Given the description of an element on the screen output the (x, y) to click on. 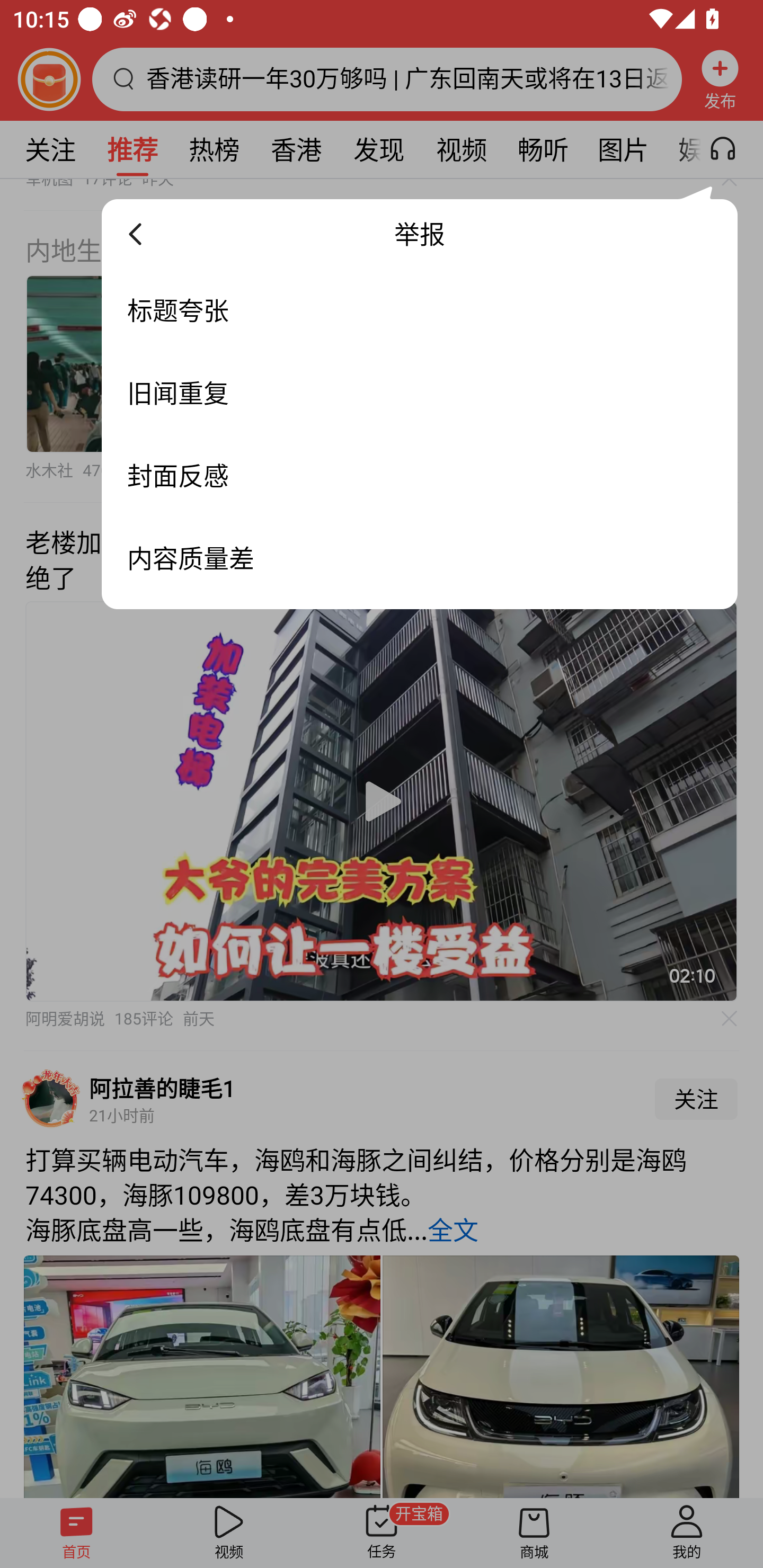
标题夸张 (419, 310)
旧闻重复 (419, 392)
封面反感 (419, 475)
内容质量差 (419, 557)
